Given the description of an element on the screen output the (x, y) to click on. 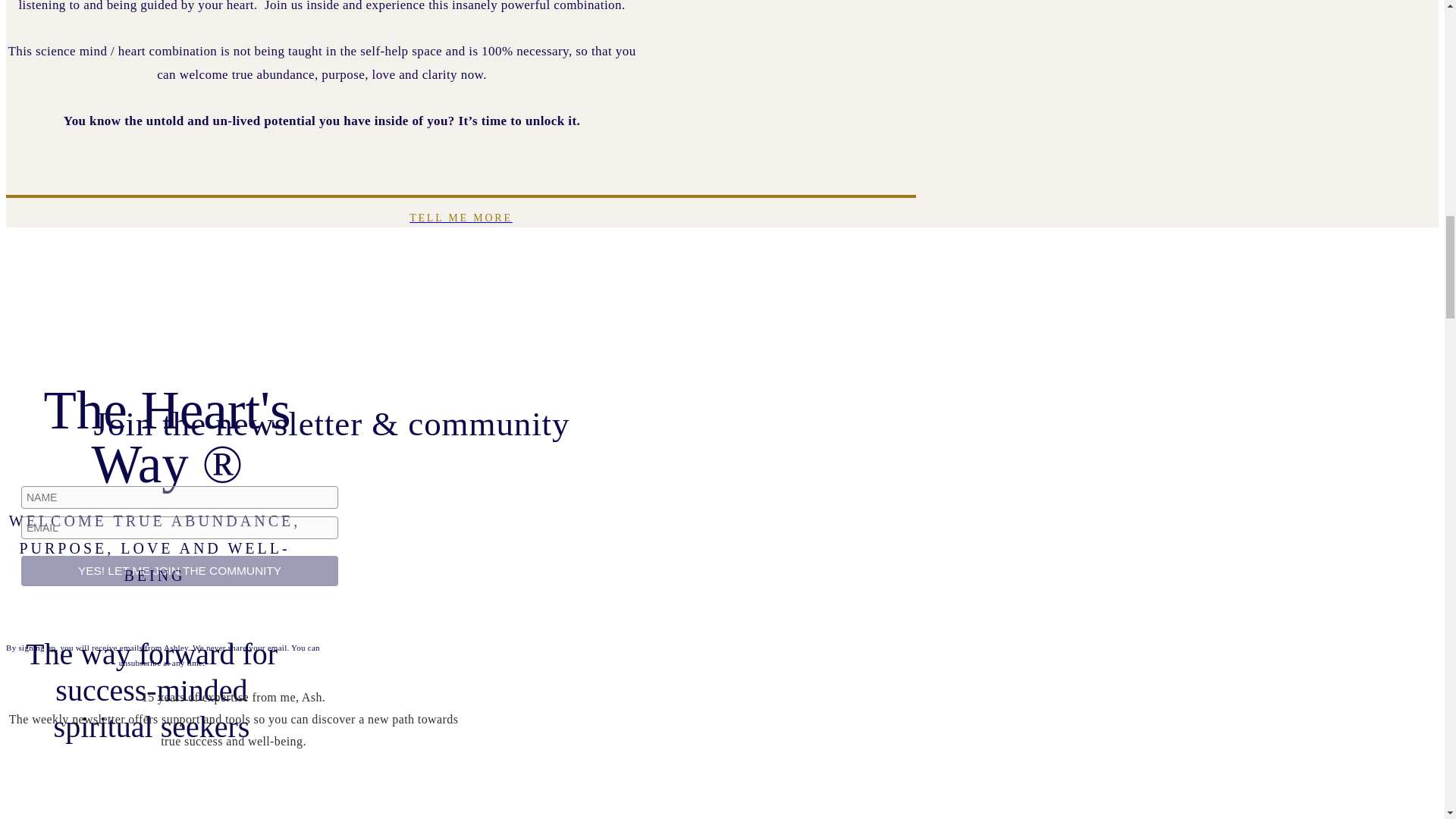
TELL ME MORE (460, 217)
YES! LET ME JOIN THE COMMUNITY (179, 571)
